Given the description of an element on the screen output the (x, y) to click on. 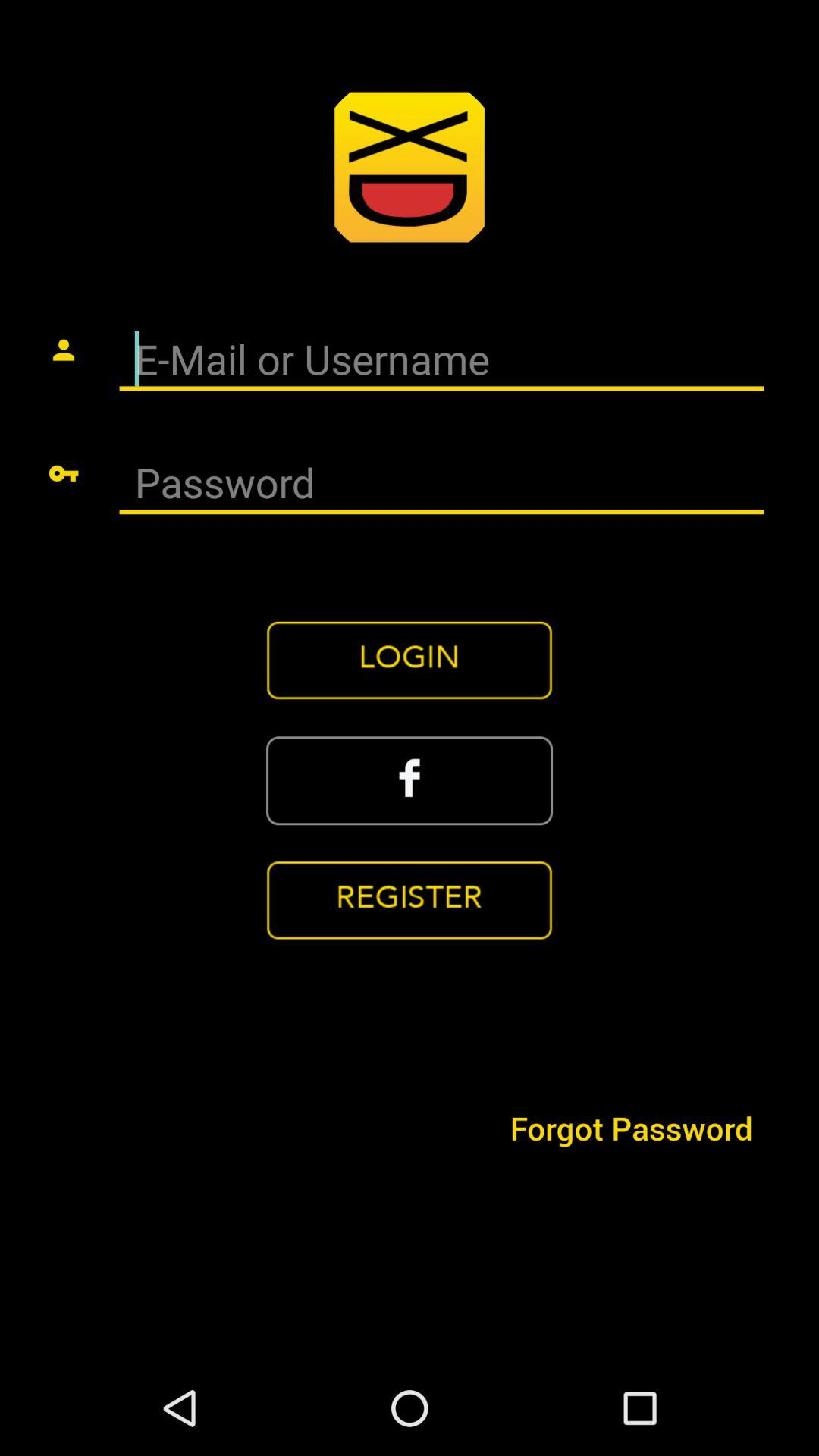
click on register (409, 900)
